Given the description of an element on the screen output the (x, y) to click on. 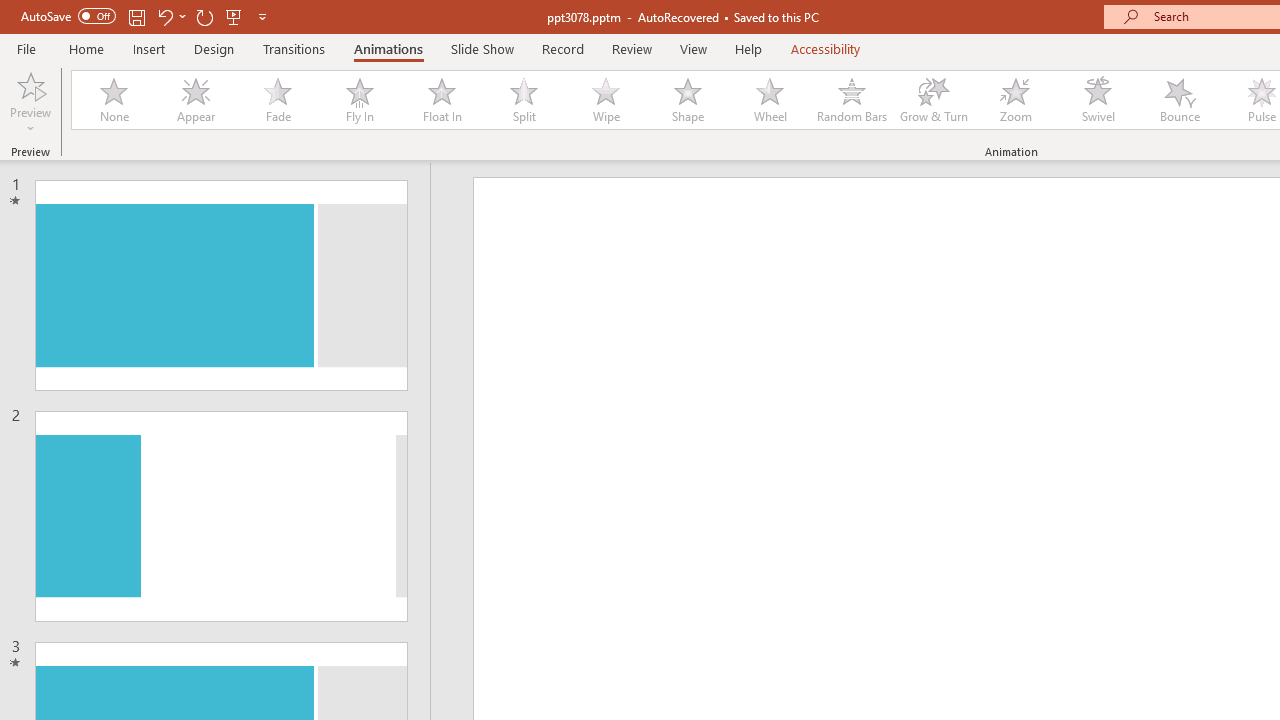
System (10, 11)
Help (748, 48)
Customize Quick Access Toolbar (262, 15)
Fade (277, 100)
Swivel (1098, 100)
Grow & Turn (934, 100)
Shape (687, 100)
None (113, 100)
AutoSave (68, 16)
Random Bars (852, 100)
Home (86, 48)
Record (562, 48)
Slide Show (481, 48)
Appear (195, 100)
Review (631, 48)
